Given the description of an element on the screen output the (x, y) to click on. 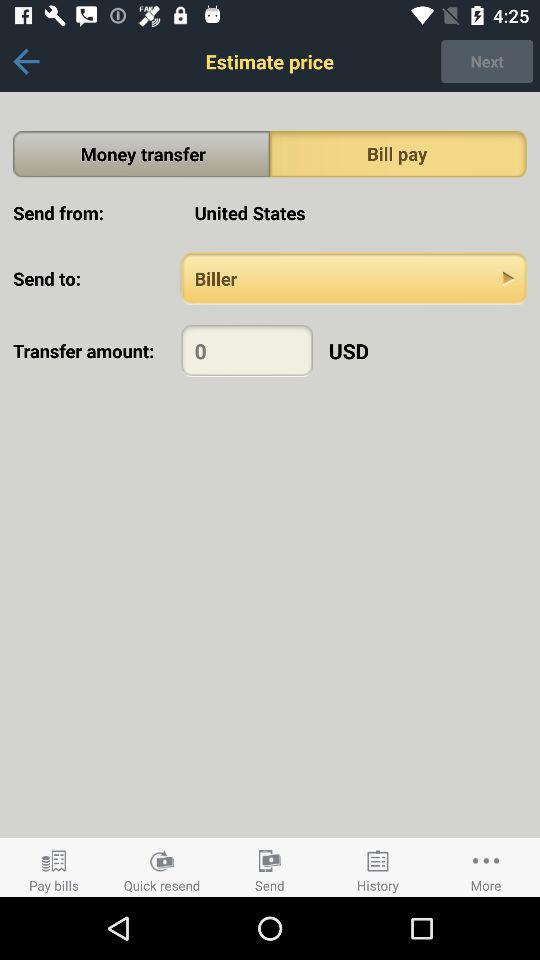
scroll to united states item (353, 212)
